Given the description of an element on the screen output the (x, y) to click on. 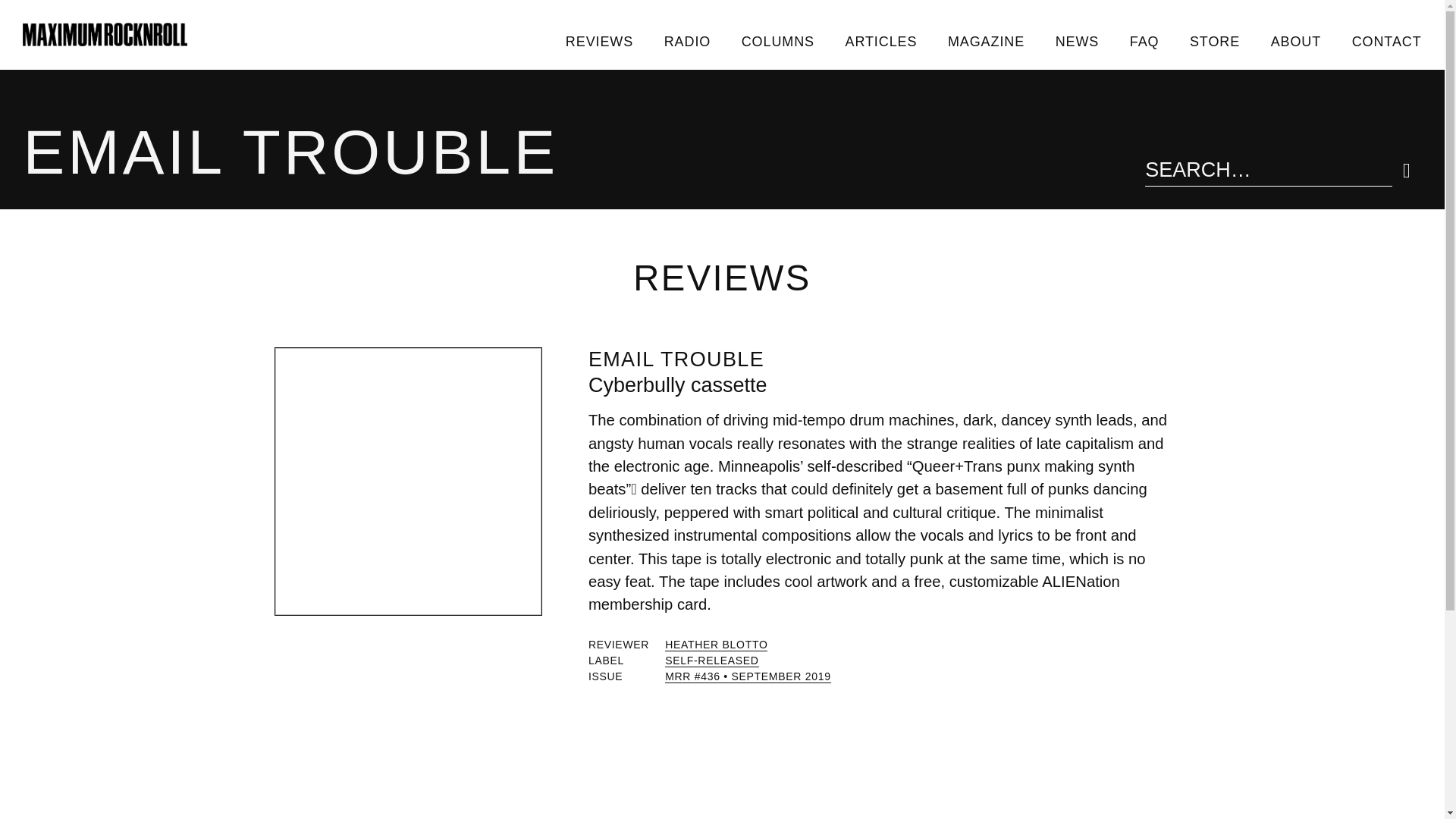
NEWS (1076, 41)
STORE (1214, 41)
CONTACT (1385, 41)
ABOUT (1295, 41)
HEATHER BLOTTO (716, 644)
COLUMNS (777, 41)
FAQ (1143, 41)
RADIO (686, 41)
SELF-RELEASED (711, 660)
MAGAZINE (987, 41)
REVIEWS (599, 41)
EMAIL TROUBLE (676, 359)
ARTICLES (880, 41)
